Given the description of an element on the screen output the (x, y) to click on. 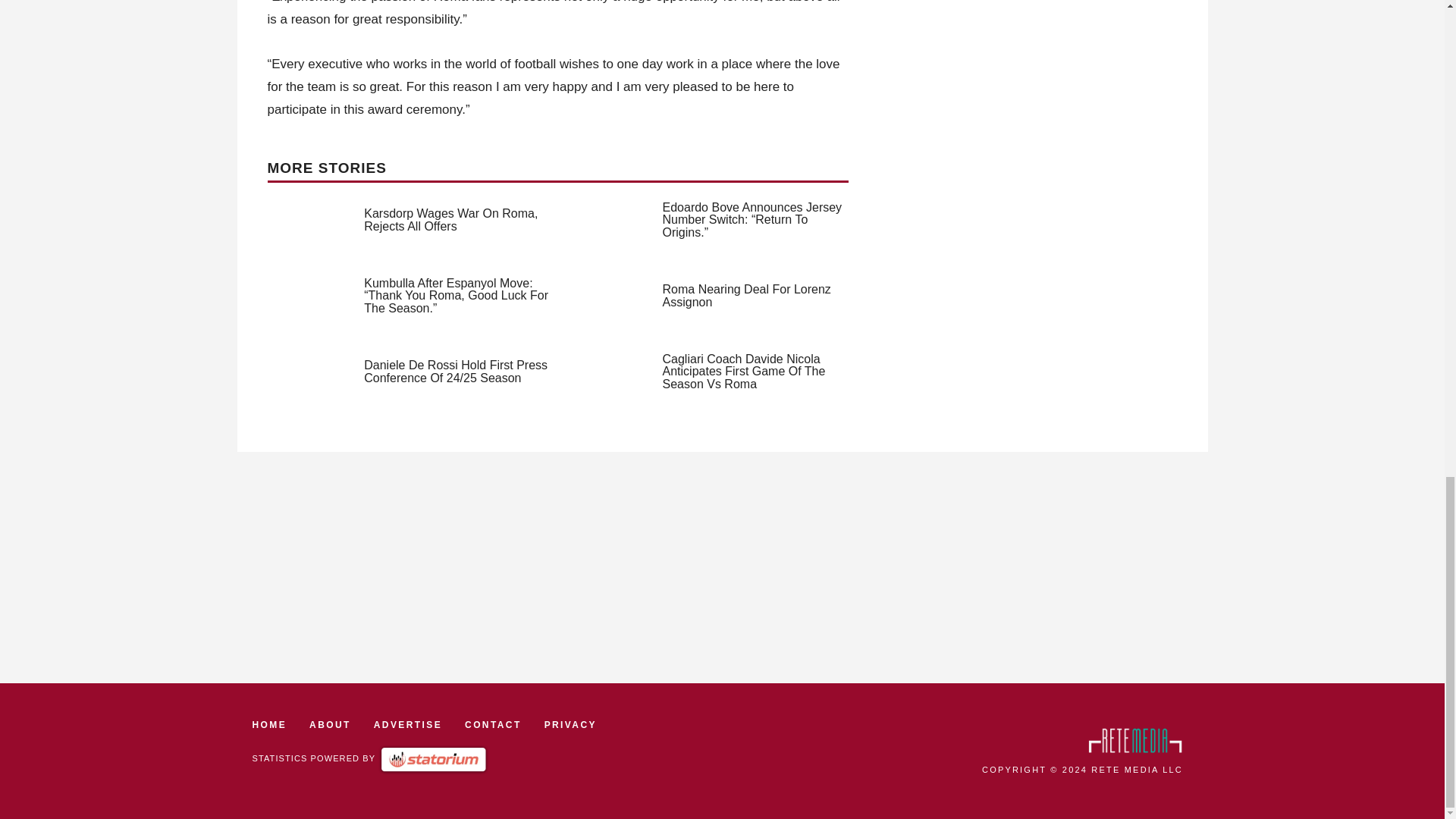
Roma Nearing Deal For Lorenz Assignon (746, 295)
ADVERTISE (408, 725)
Karsdorp Wages War On Roma, Rejects All Offers (450, 219)
PRIVACY (570, 725)
CONTACT (492, 725)
HOME (268, 725)
ABOUT (329, 725)
